Given the description of an element on the screen output the (x, y) to click on. 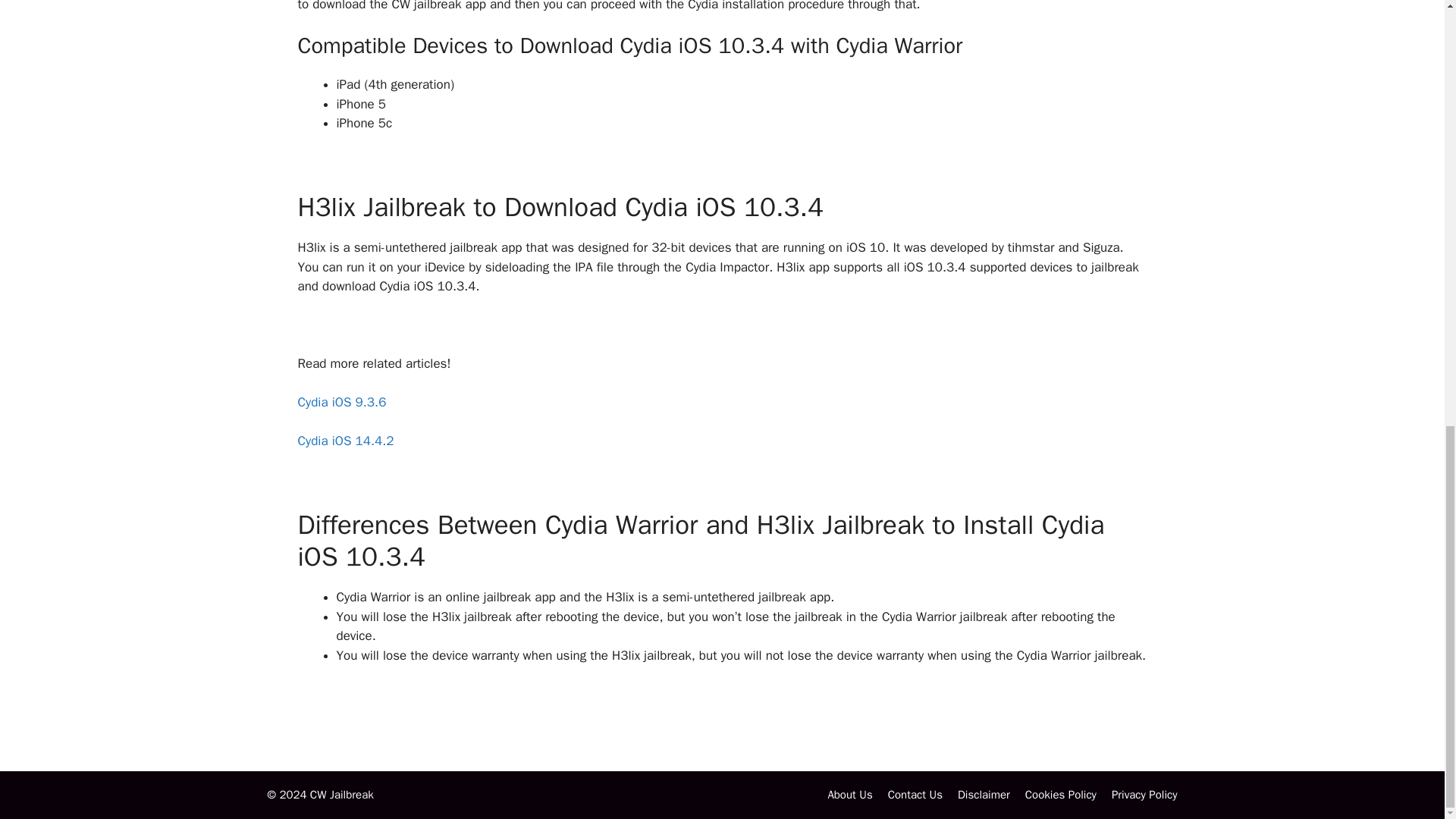
Disclaimer (984, 794)
Cydia iOS 14.4.2 (345, 440)
Cookies Policy (1060, 794)
About Us (849, 794)
Contact Us (915, 794)
Privacy Policy (1144, 794)
Cydia iOS 9.3.6 (341, 401)
